Given the description of an element on the screen output the (x, y) to click on. 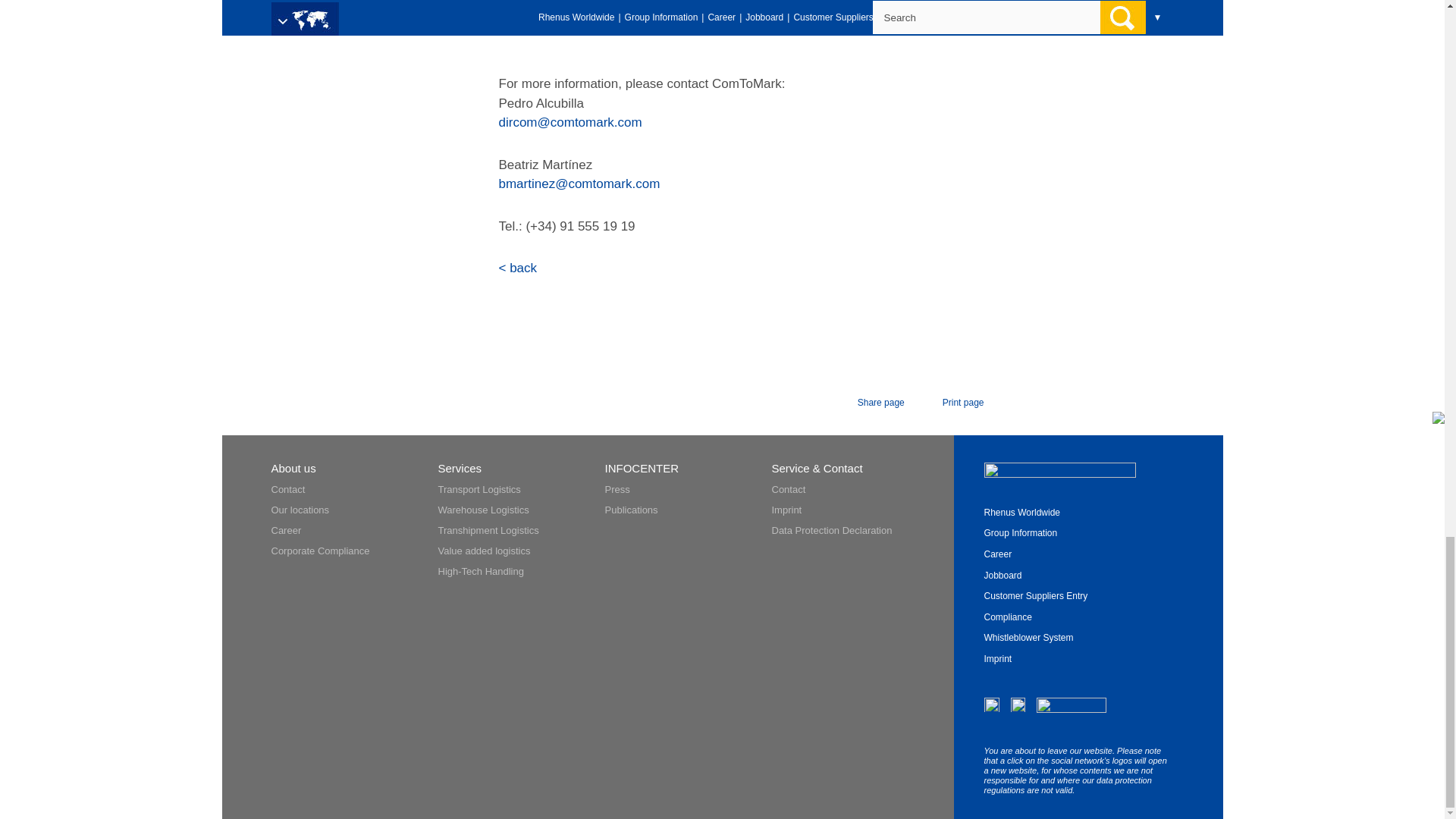
Warehouse Logistics (483, 509)
Value added logistics (484, 550)
Contact (287, 489)
Corporate Compliance (319, 550)
Our locations (300, 509)
Share page (869, 403)
Transport Logistics (479, 489)
Print page (952, 403)
About us (292, 468)
Services (459, 468)
